Given the description of an element on the screen output the (x, y) to click on. 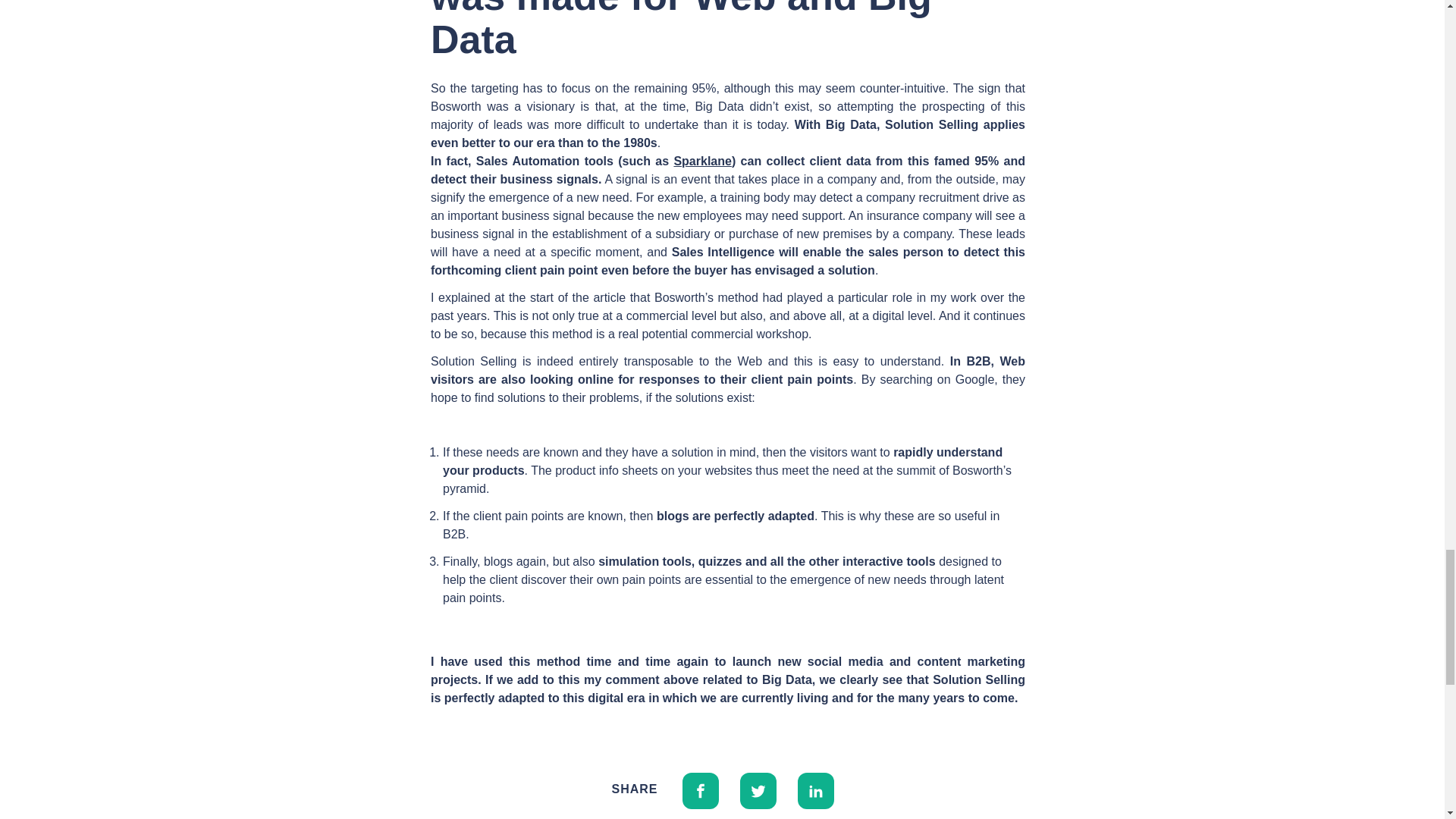
Partager sur Facebook (701, 789)
Partager sur LinkedIn (816, 789)
Partager sur Twitter (758, 789)
